Given the description of an element on the screen output the (x, y) to click on. 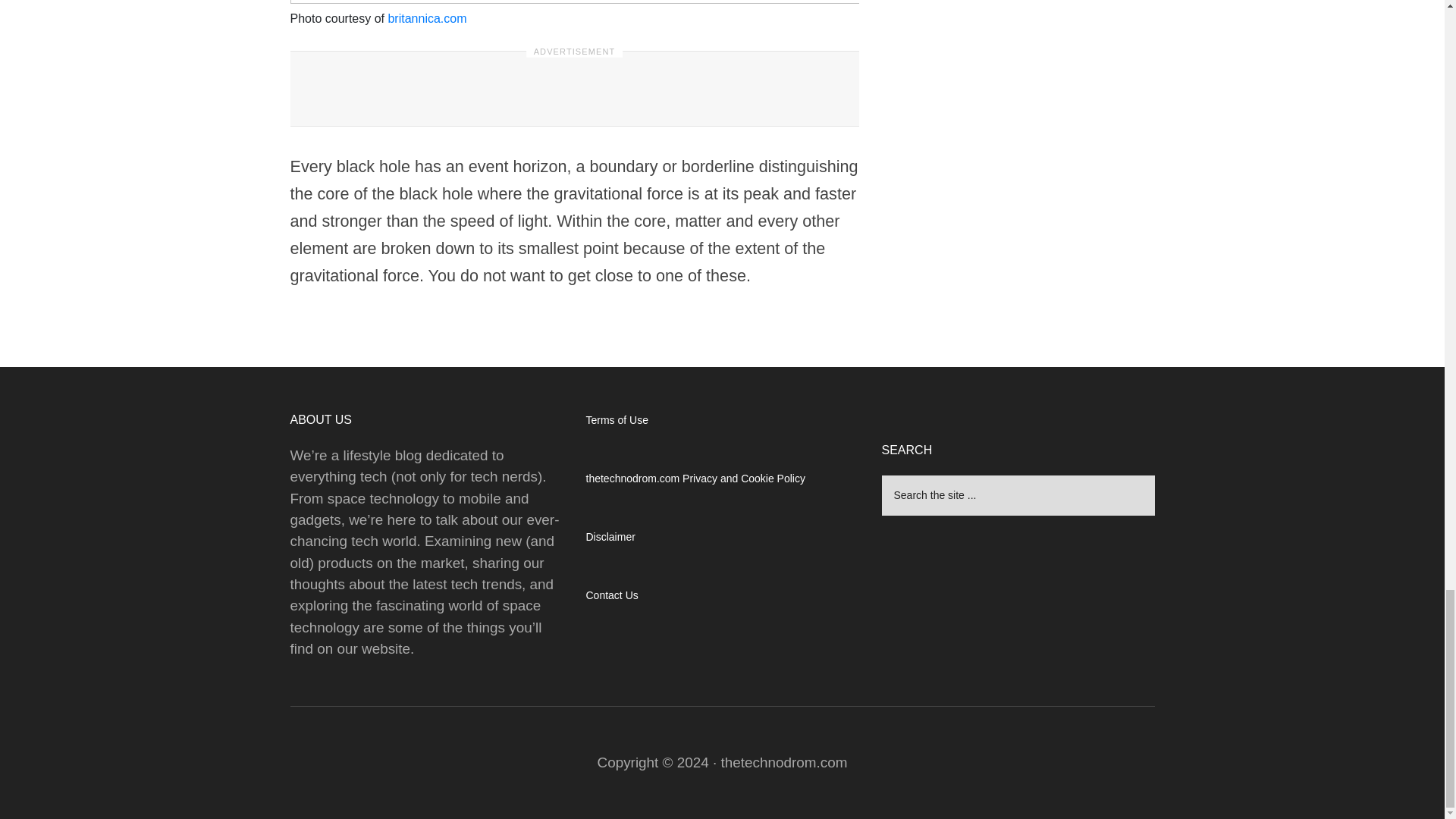
britannica.com (426, 18)
